Given the description of an element on the screen output the (x, y) to click on. 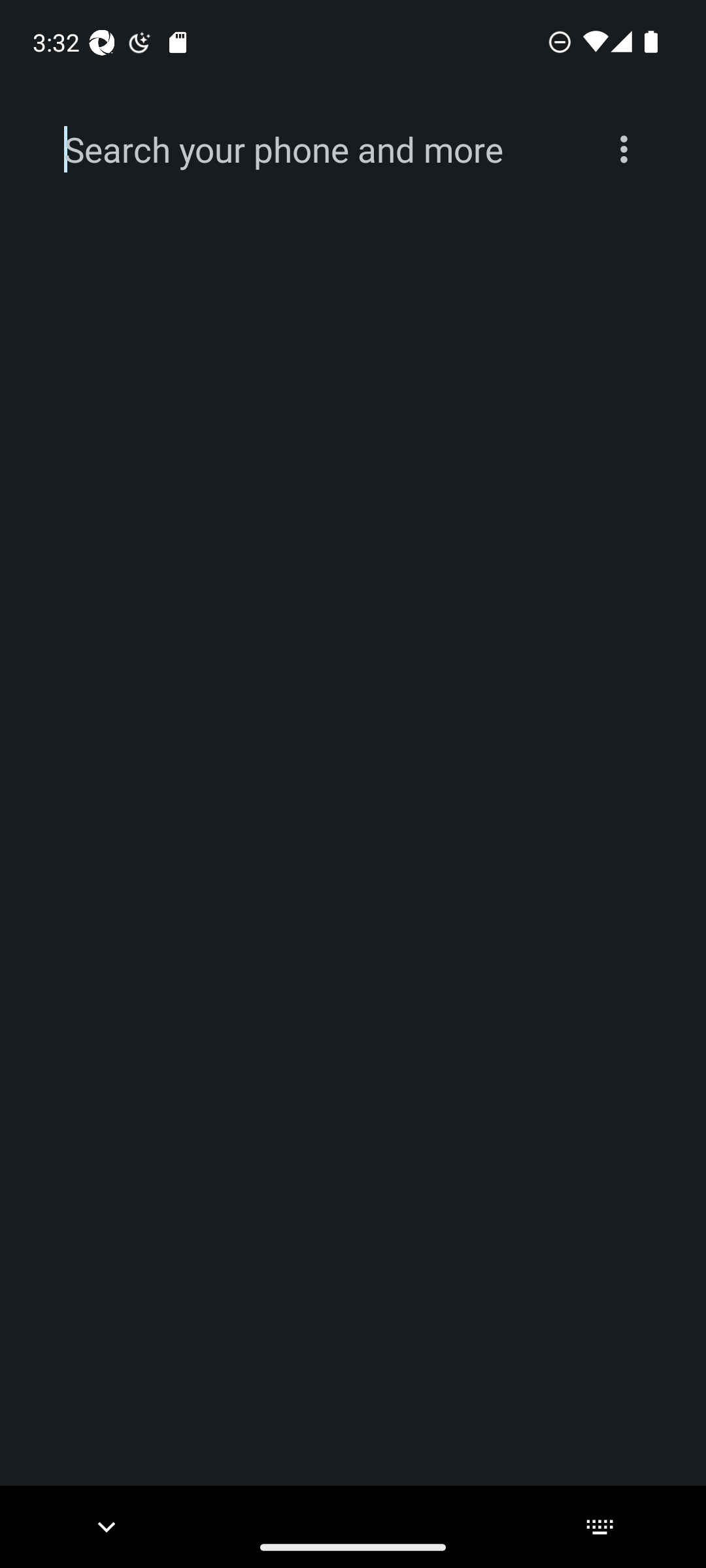
Search your phone and more (321, 149)
Preferences (623, 149)
